Given the description of an element on the screen output the (x, y) to click on. 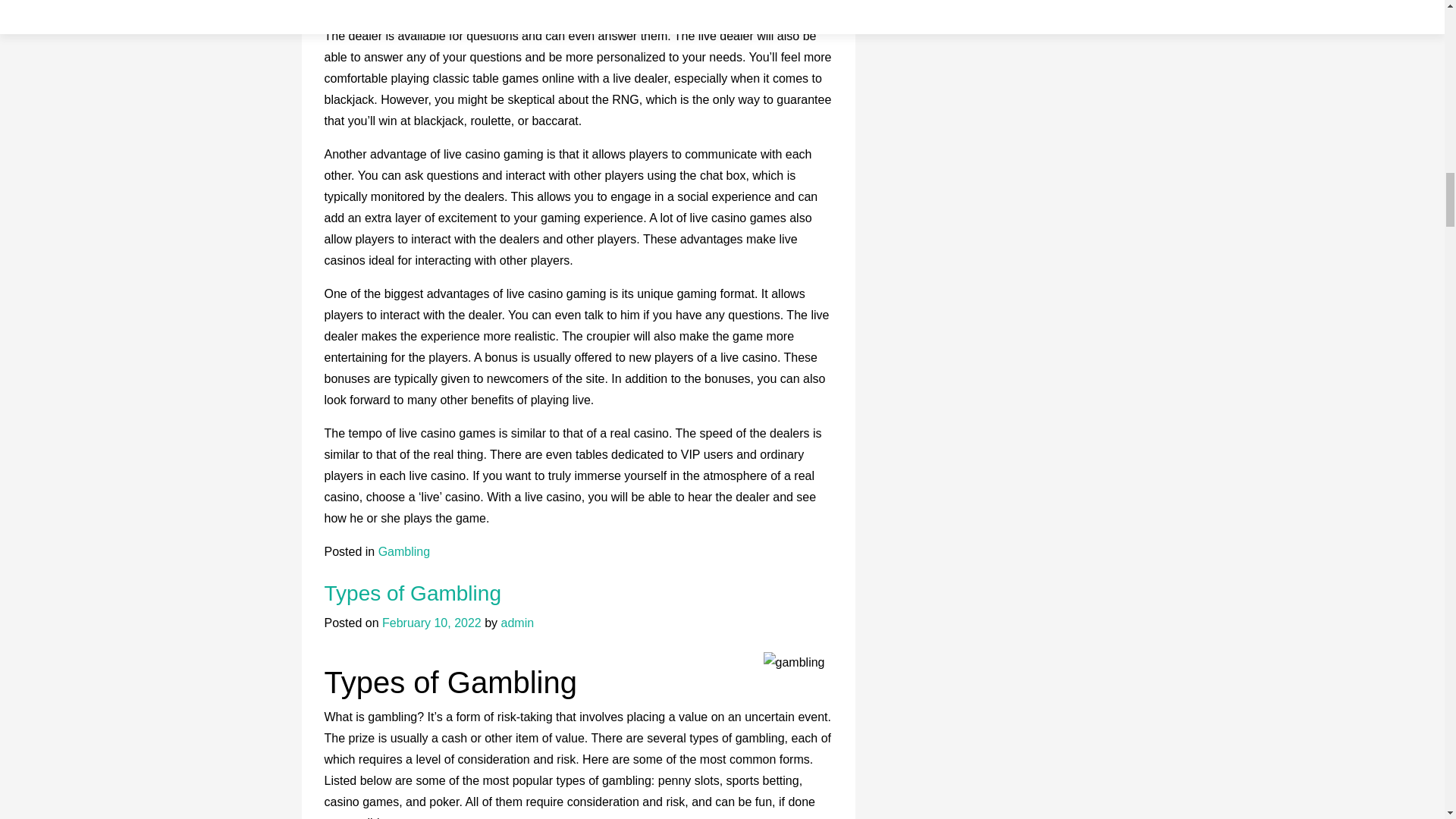
Types of Gambling (412, 593)
Gambling (403, 551)
February 10, 2022 (431, 622)
admin (517, 622)
